Given the description of an element on the screen output the (x, y) to click on. 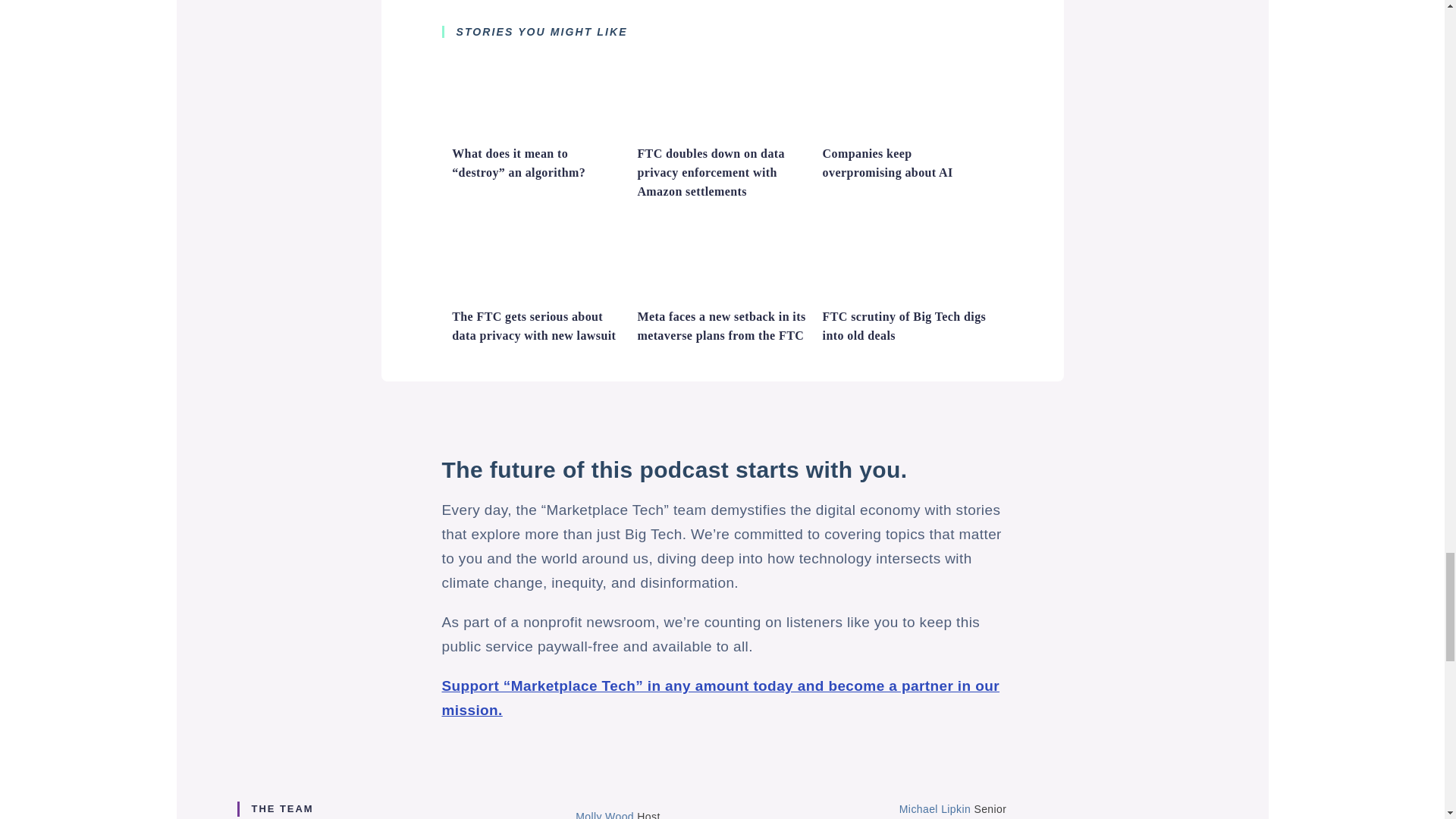
Companies keep overpromising about AI (887, 163)
Companies keep overpromising about AI (907, 131)
